Given the description of an element on the screen output the (x, y) to click on. 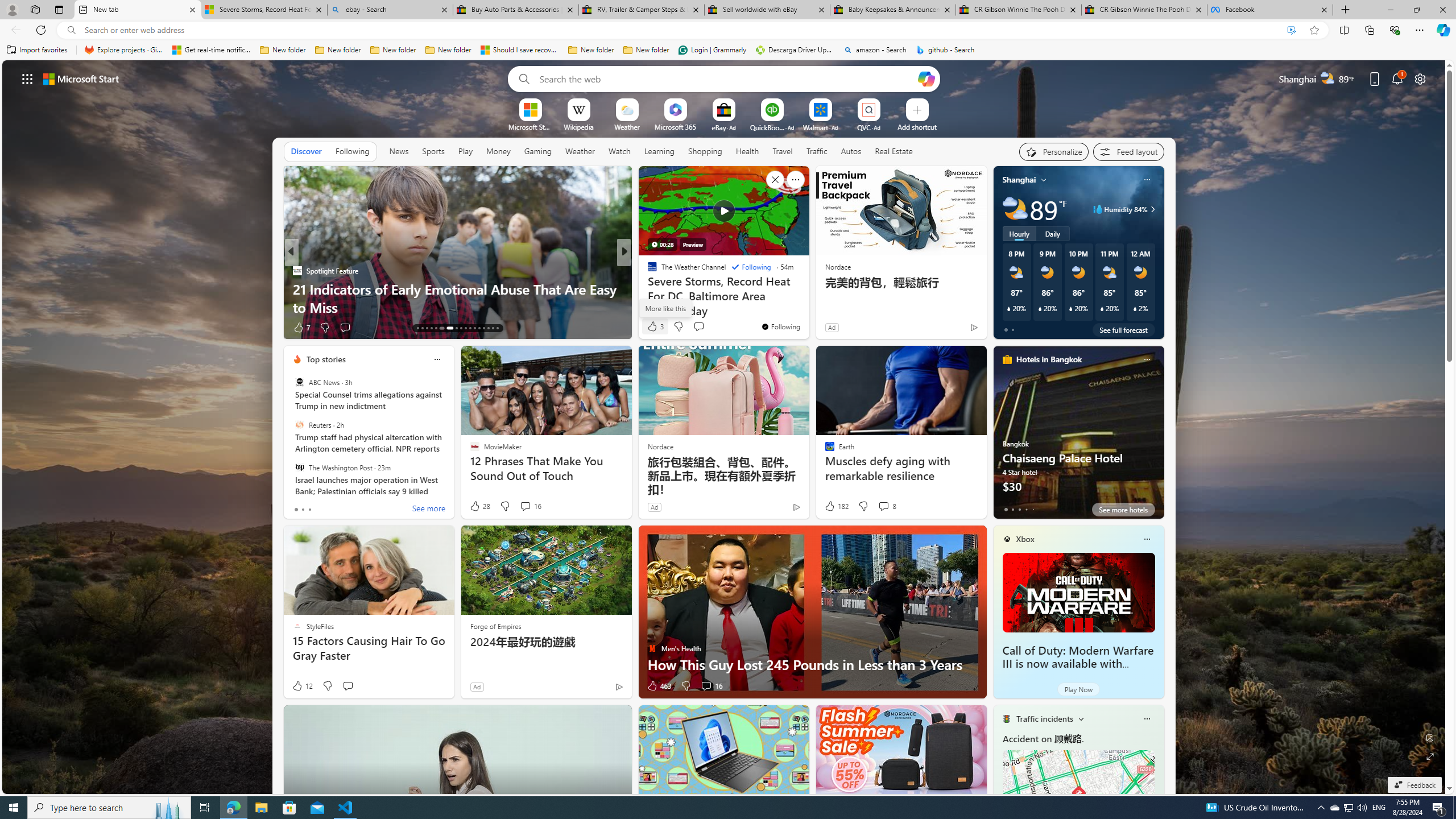
tab-4 (1032, 509)
View comments 1 Comment (705, 327)
463 Like (658, 685)
View comments 16 Comment (710, 685)
